Given the description of an element on the screen output the (x, y) to click on. 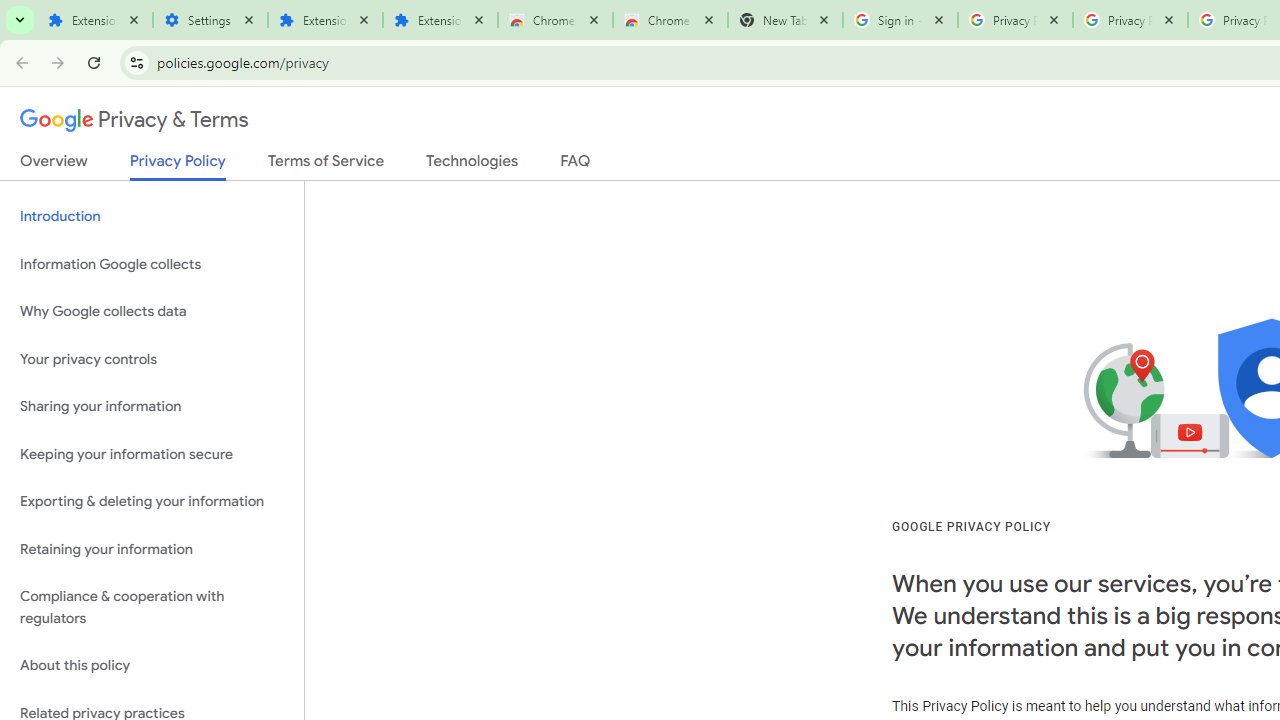
About this policy (152, 666)
Exporting & deleting your information (152, 502)
Chrome Web Store (555, 20)
Settings (209, 20)
Extensions (95, 20)
Privacy & Terms (134, 120)
Compliance & cooperation with regulators (152, 607)
New Tab (785, 20)
Sign in - Google Accounts (900, 20)
Extensions (324, 20)
